Given the description of an element on the screen output the (x, y) to click on. 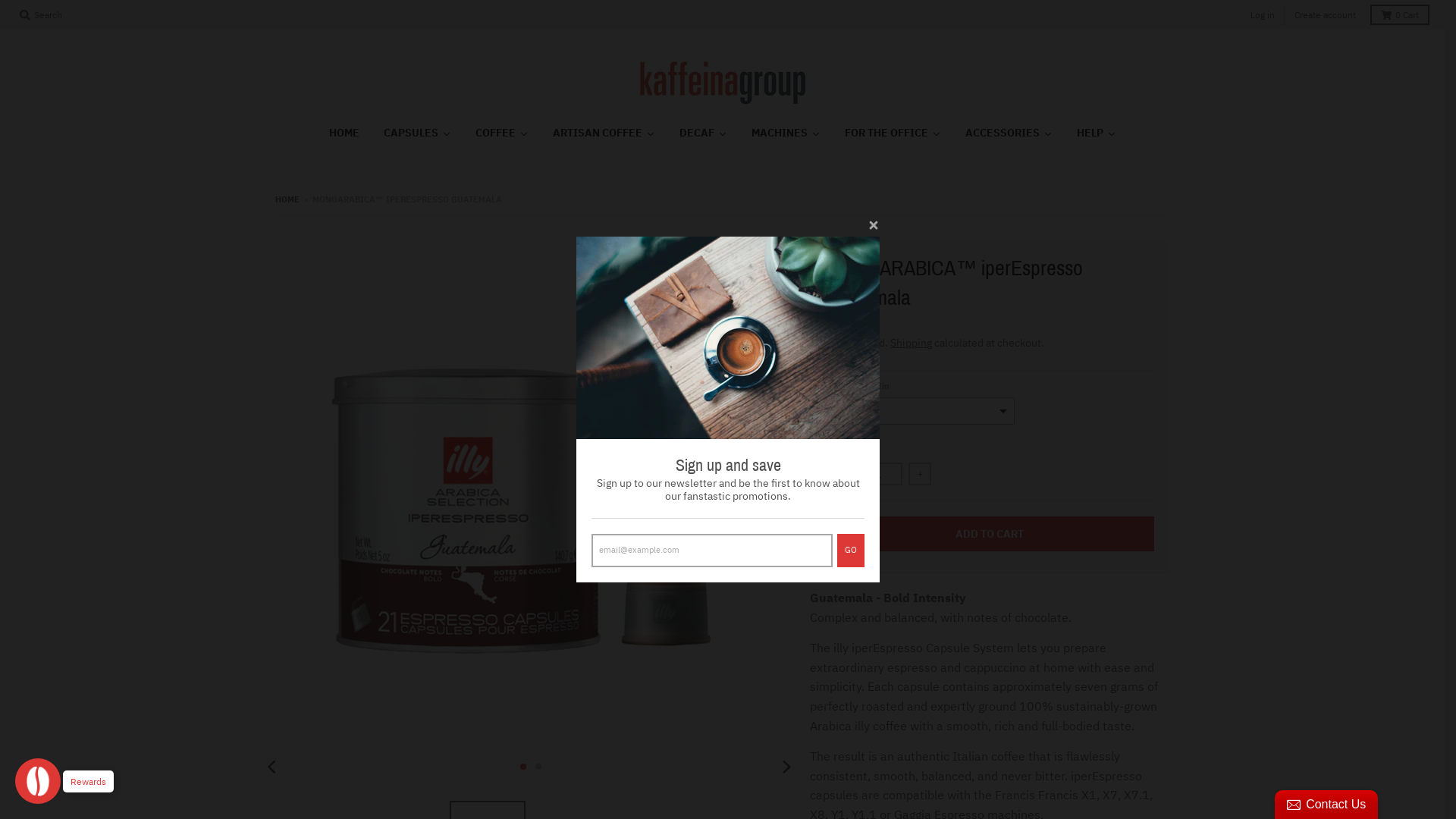
ACCESSORIES Element type: text (1007, 133)
DECAF Element type: text (703, 133)
Search Element type: text (40, 14)
MACHINES Element type: text (784, 133)
HOME Element type: text (343, 133)
COFFEE Element type: text (500, 133)
ADD TO CART Element type: text (989, 533)
GO Element type: text (850, 550)
Shipping Element type: text (910, 342)
Log in Element type: text (1262, 14)
HELP Element type: text (1096, 133)
HOME Element type: text (286, 199)
- Element type: text (836, 473)
ARTISAN COFFEE Element type: text (602, 133)
+ Element type: text (919, 473)
Create account Element type: text (1324, 14)
0 Cart Element type: text (1399, 14)
CAPSULES Element type: text (417, 133)
FOR THE OFFICE Element type: text (892, 133)
